Given the description of an element on the screen output the (x, y) to click on. 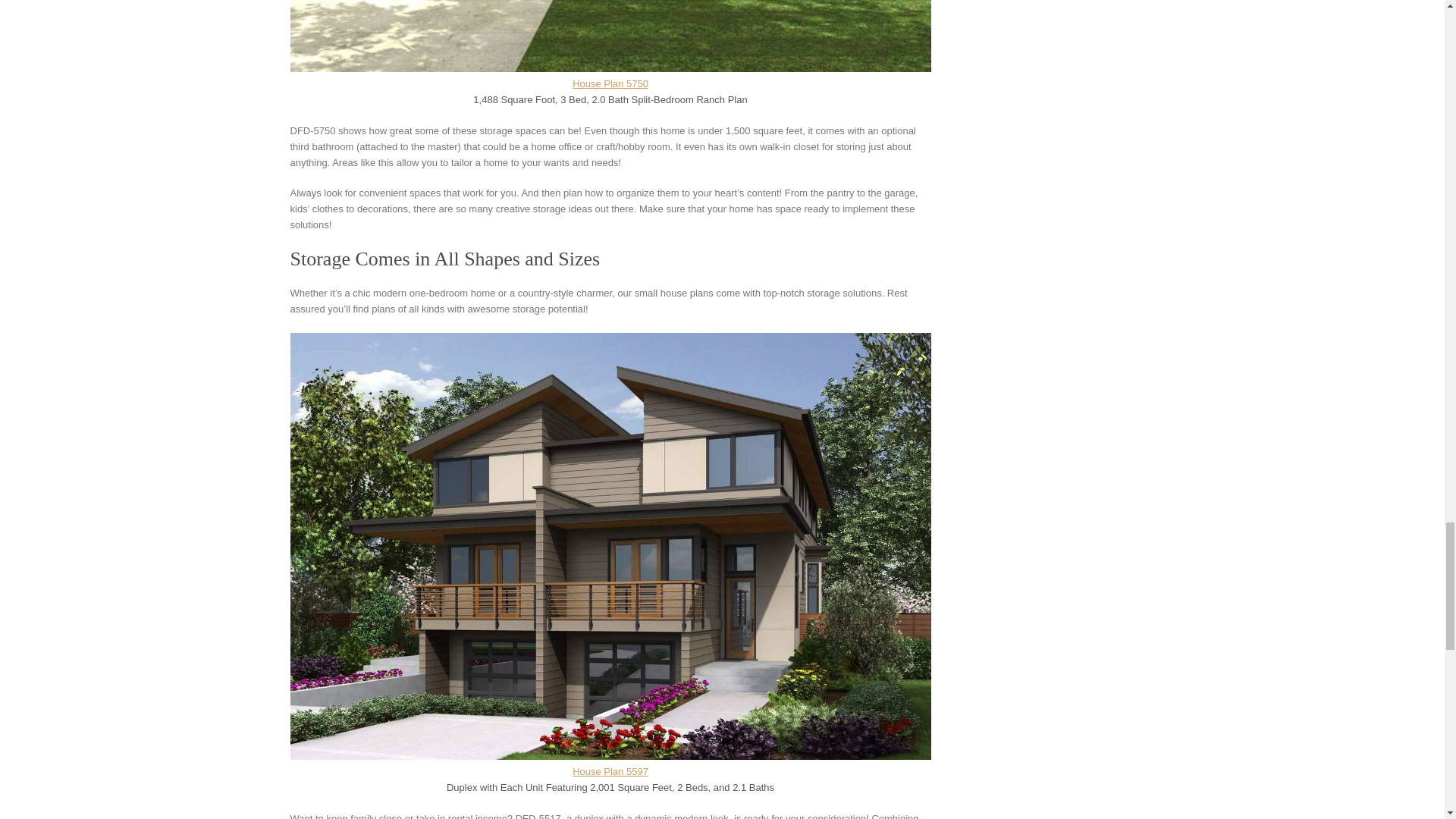
House Plan 5597 (609, 771)
House Plan 5750 (609, 83)
